Given the description of an element on the screen output the (x, y) to click on. 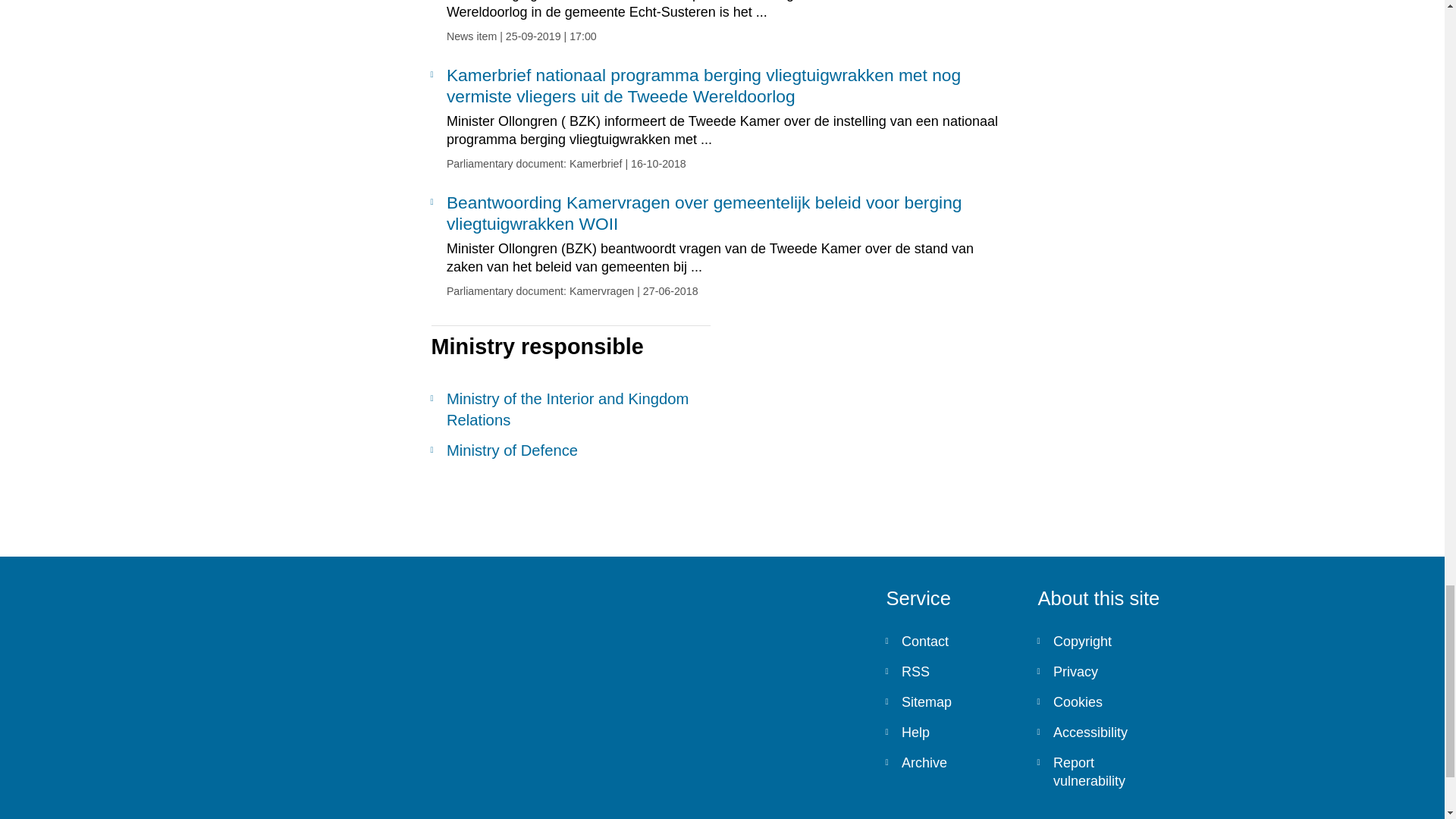
Privacy (1100, 671)
Help (949, 732)
Contact (949, 641)
Copyright (1100, 641)
Accessibility (1100, 732)
Sitemap (949, 702)
Ministry of Defence (570, 450)
Archive (949, 762)
Report vulnerability (1100, 771)
RSS (949, 671)
